Given the description of an element on the screen output the (x, y) to click on. 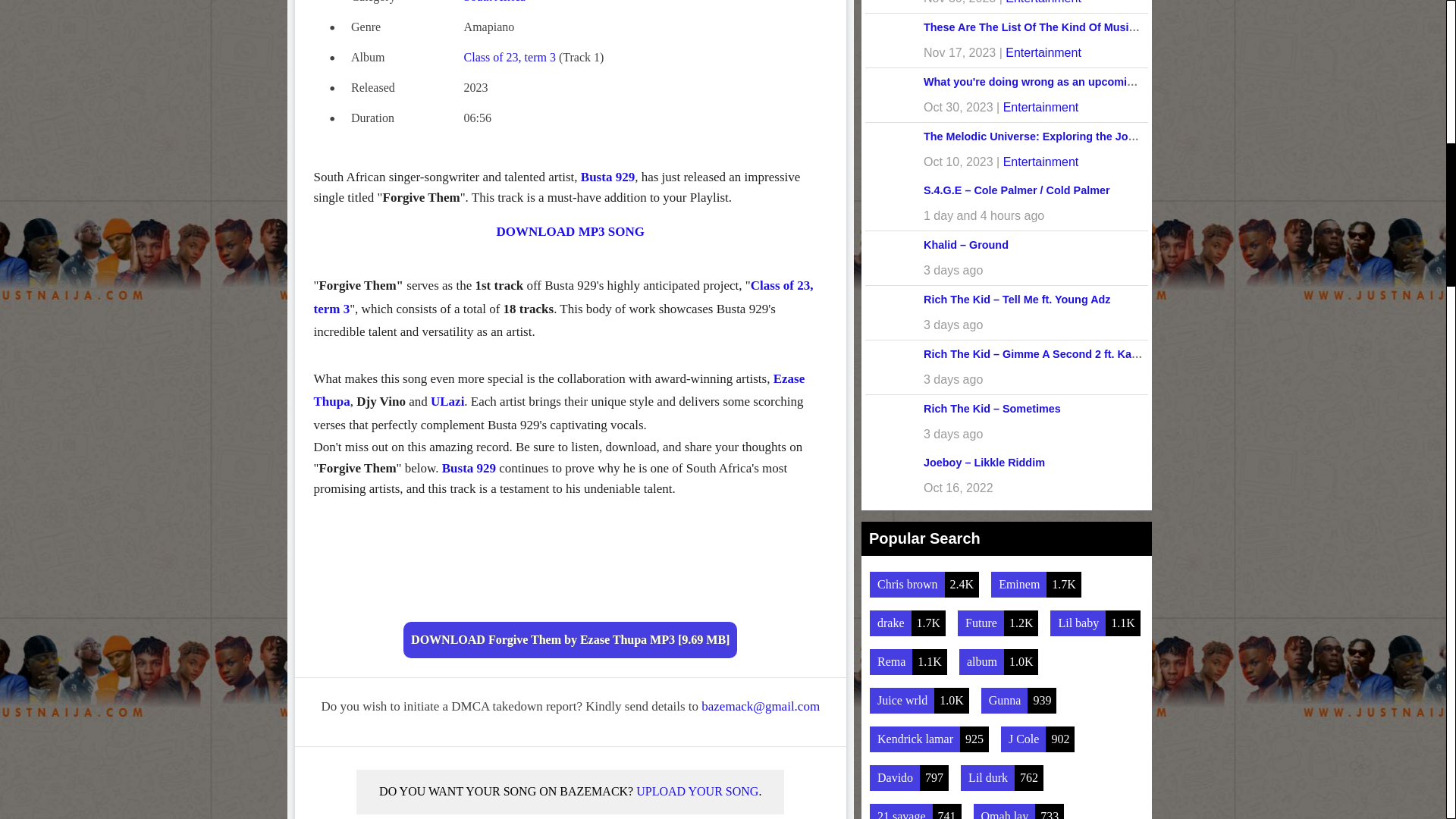
Entertainment (1040, 106)
Entertainment (1043, 51)
Entertainment (1043, 2)
Entertainment (1040, 161)
Music Player (569, 564)
What you're doing wrong as an upcoming artist (1046, 81)
